Given the description of an element on the screen output the (x, y) to click on. 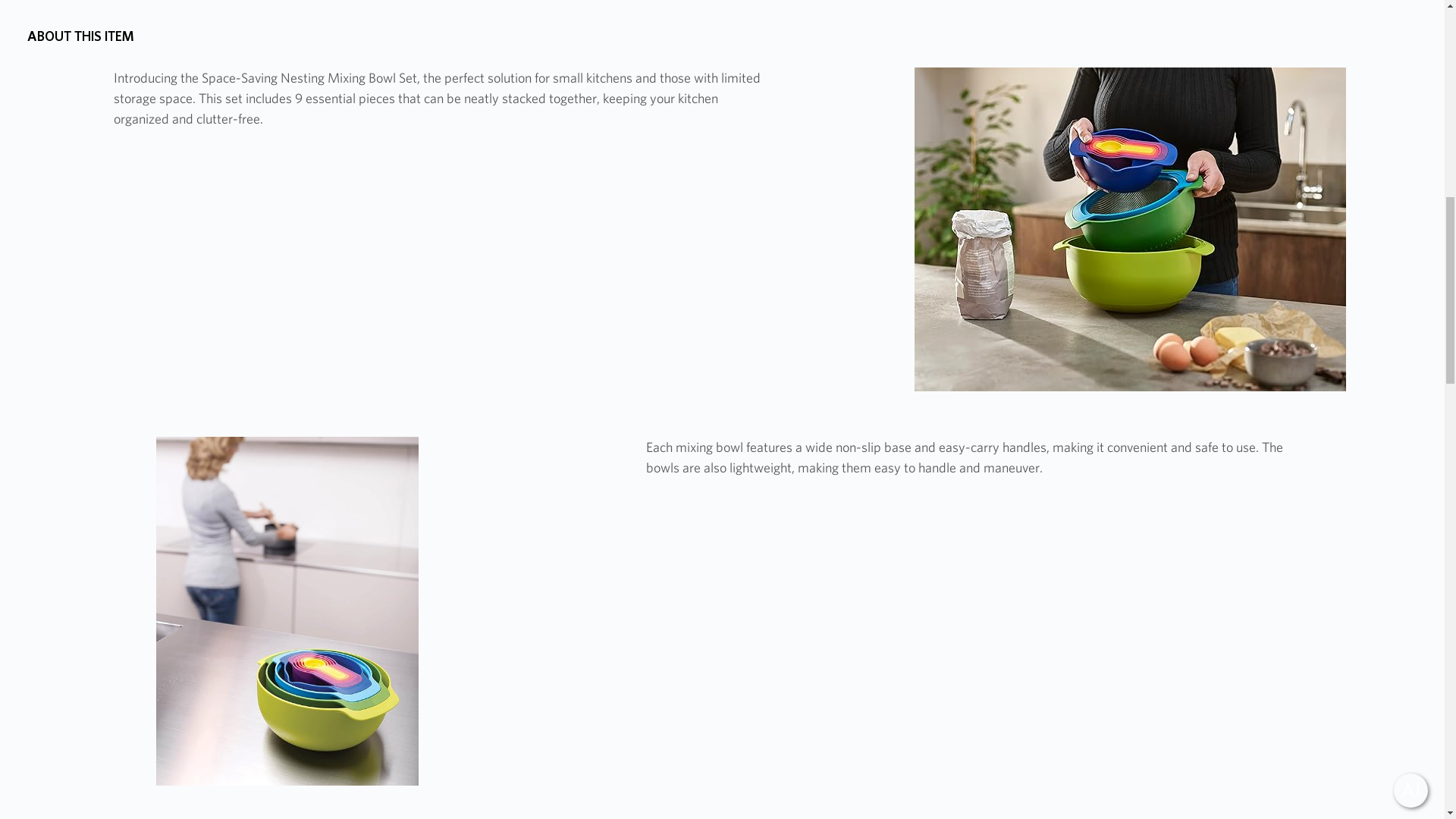
Translate (1380, 623)
Proofread (1299, 623)
About Waivio (1208, 623)
